Given the description of an element on the screen output the (x, y) to click on. 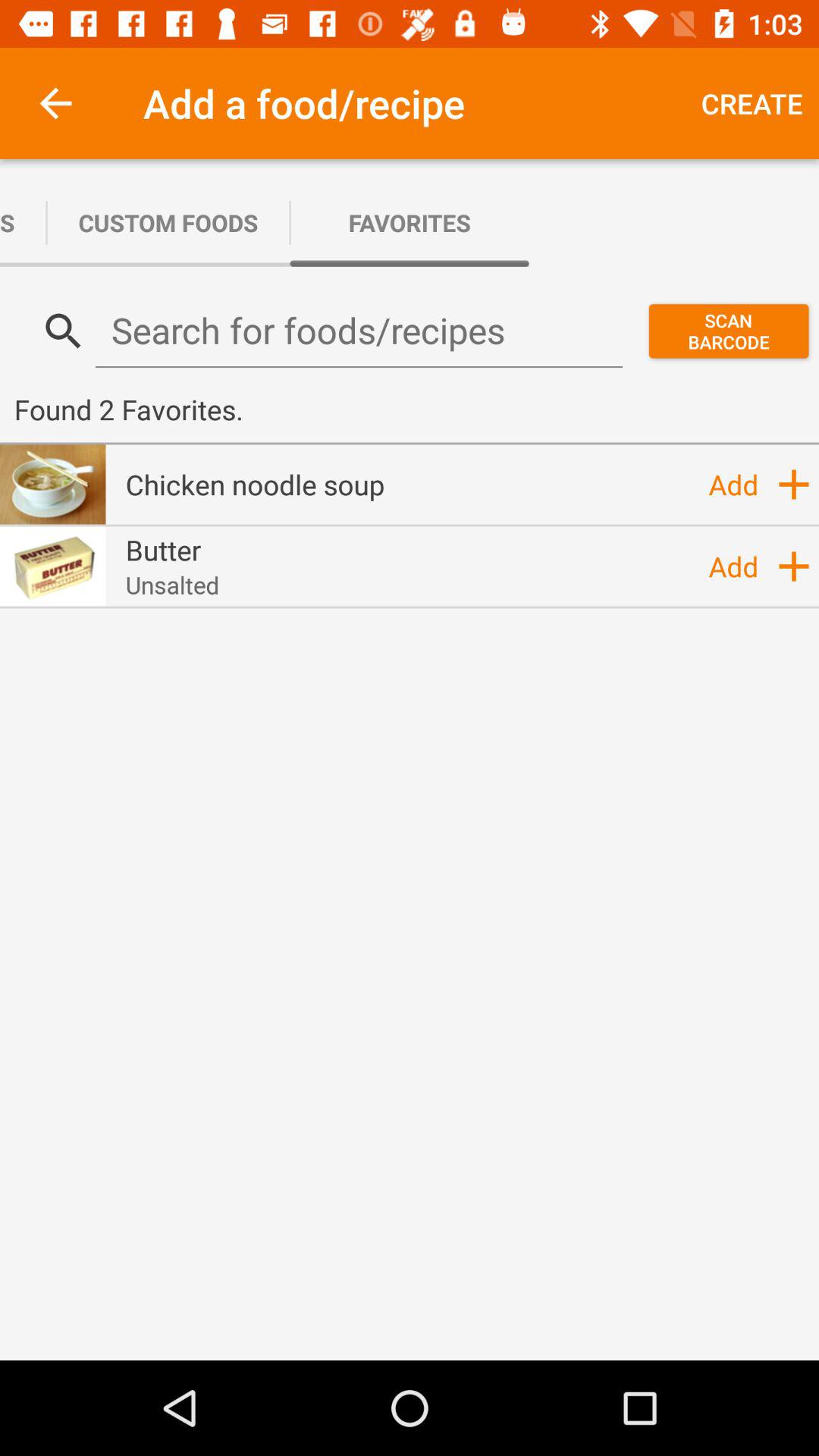
press item to the right of the add a food item (752, 103)
